Given the description of an element on the screen output the (x, y) to click on. 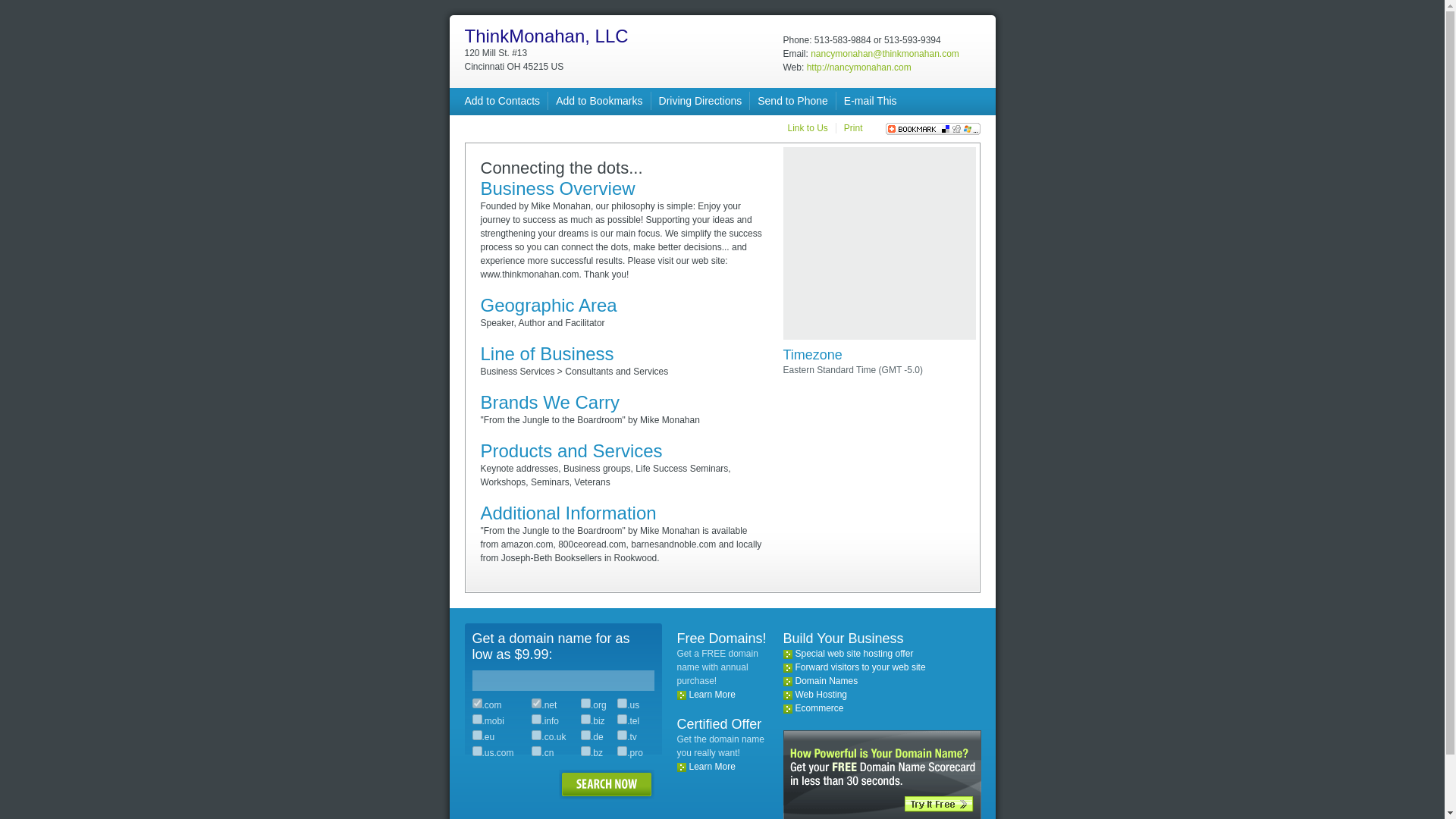
.co.uk (536, 735)
Ecommerce (818, 707)
Domain Names (825, 680)
.tv (622, 735)
E-mail This (870, 101)
Add to Bookmarks (599, 101)
.us.com (476, 750)
.org (585, 703)
Forward visitors to your web site (859, 666)
Driving Directions (700, 101)
